Given the description of an element on the screen output the (x, y) to click on. 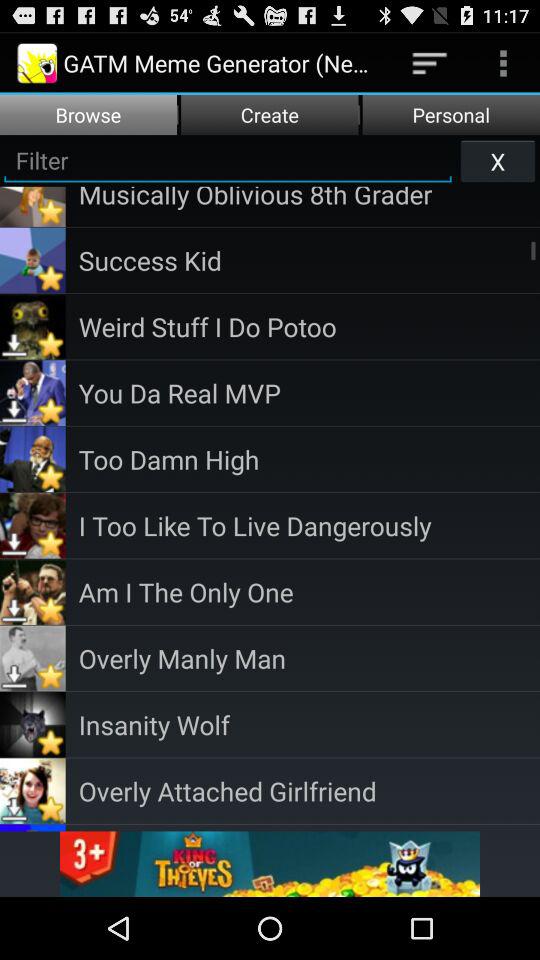
choose the icon below the i too like item (309, 591)
